Given the description of an element on the screen output the (x, y) to click on. 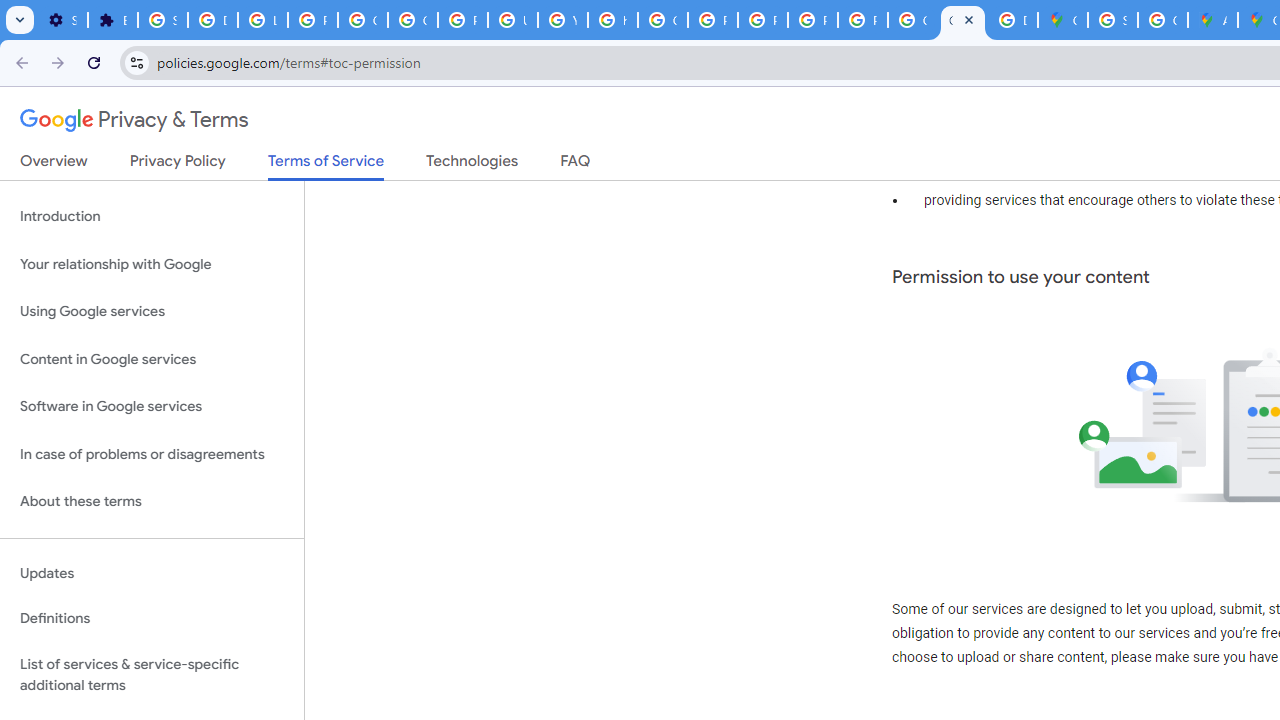
In case of problems or disagreements (152, 453)
Learn how to find your photos - Google Photos Help (262, 20)
Overview (54, 165)
List of services & service-specific additional terms (152, 674)
Reload (93, 62)
Settings - On startup (62, 20)
About these terms (152, 502)
Close (968, 19)
Create your Google Account (1162, 20)
Google Maps (1062, 20)
Your relationship with Google (152, 263)
